Given the description of an element on the screen output the (x, y) to click on. 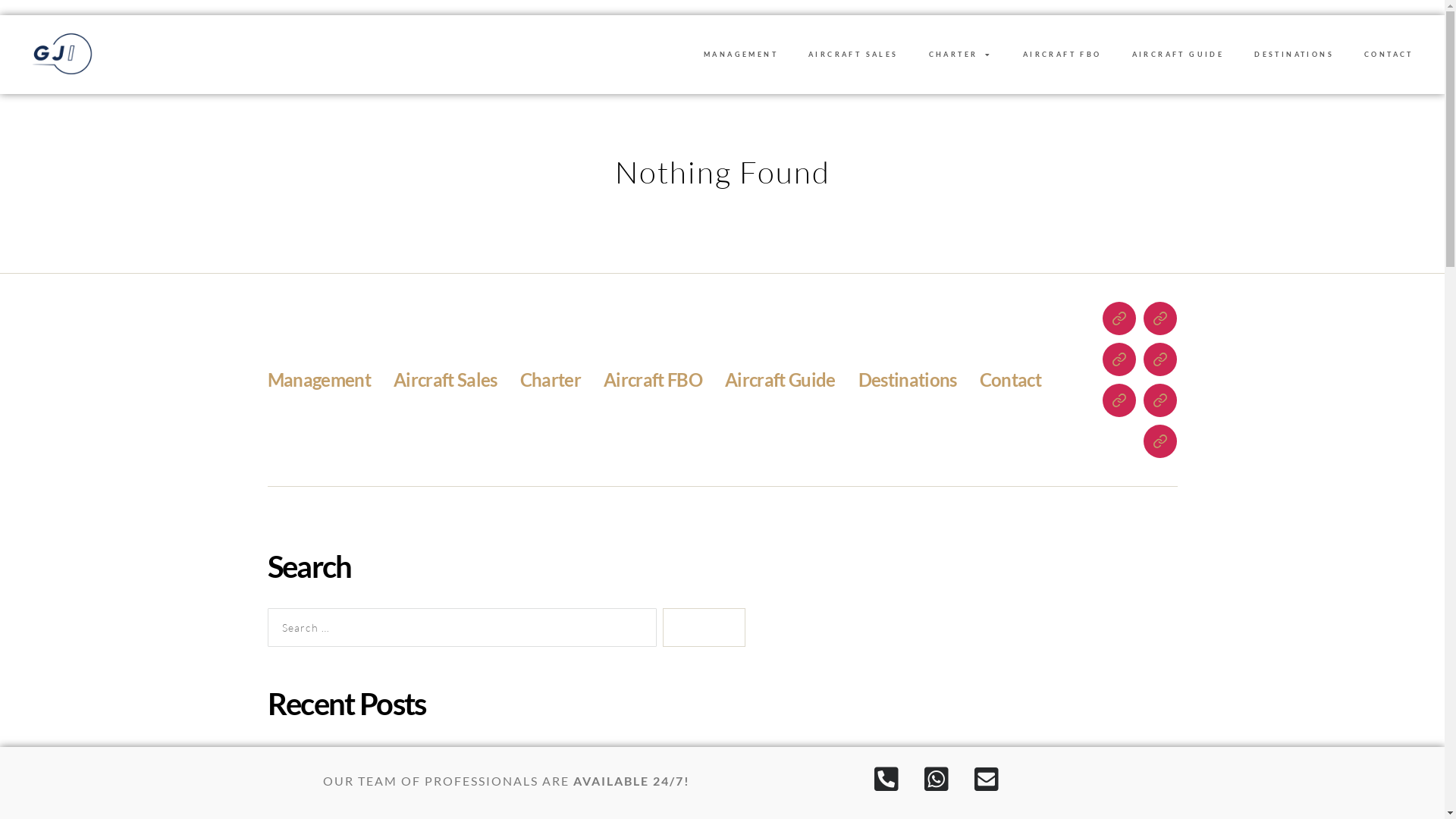
Charter Element type: text (550, 379)
Management Element type: text (318, 379)
Contact Element type: text (1010, 379)
CONTACT Element type: text (1388, 54)
AIRCRAFT SALES Element type: text (853, 54)
AIRCRAFT FBO Element type: text (1062, 54)
Destinations Element type: text (907, 379)
Search Element type: text (703, 627)
Online Casino Azerbayca Element type: text (366, 756)
Aircraft Guide Element type: text (779, 379)
MANAGEMENT Element type: text (740, 54)
Aircraft Sales Element type: text (445, 379)
AIRCRAFT GUIDE Element type: text (1178, 54)
CHARTER Element type: text (960, 54)
DESTINATIONS Element type: text (1294, 54)
Aircraft FBO Element type: text (652, 379)
